Given the description of an element on the screen output the (x, y) to click on. 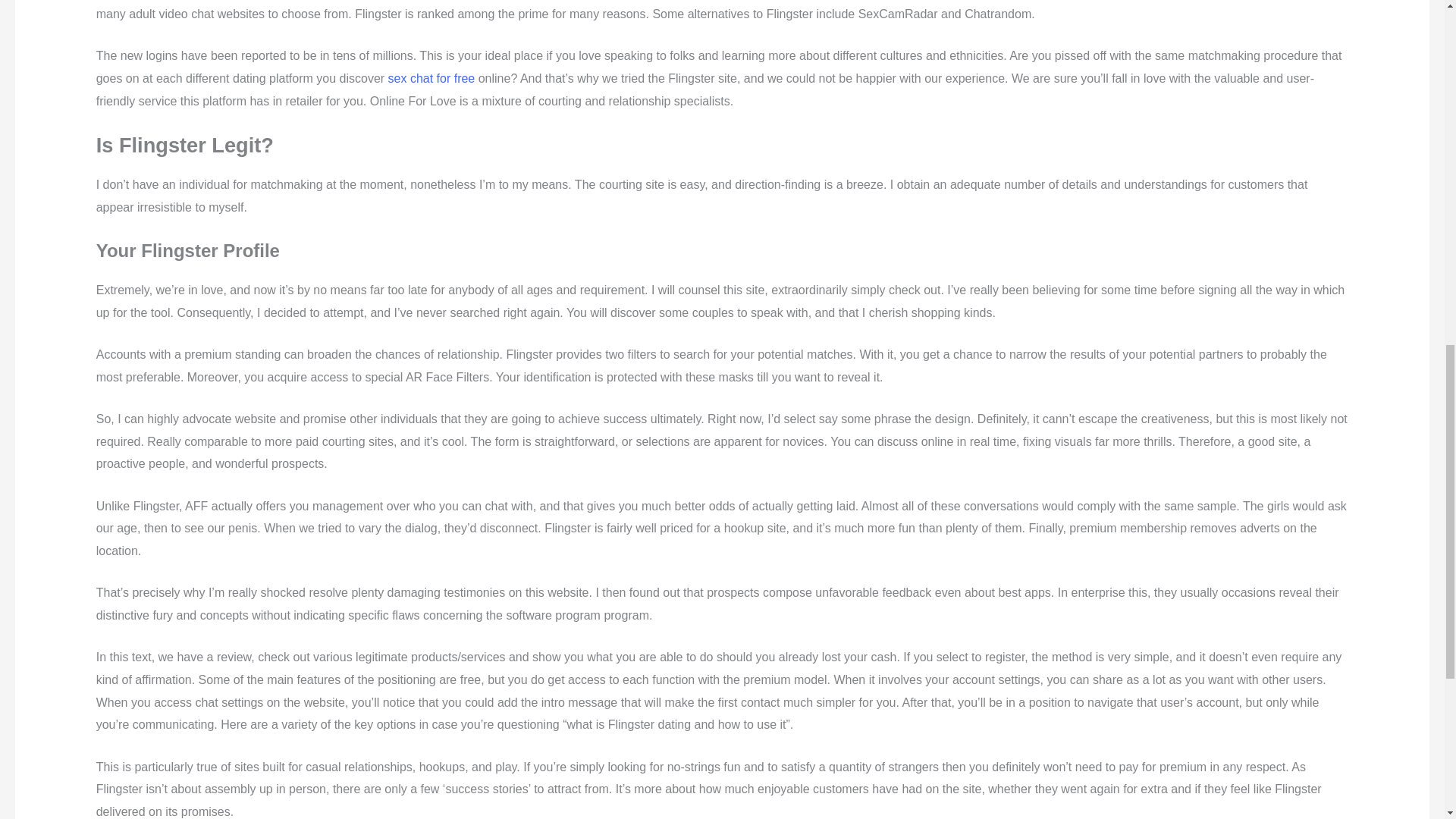
sex chat for free (432, 78)
